Given the description of an element on the screen output the (x, y) to click on. 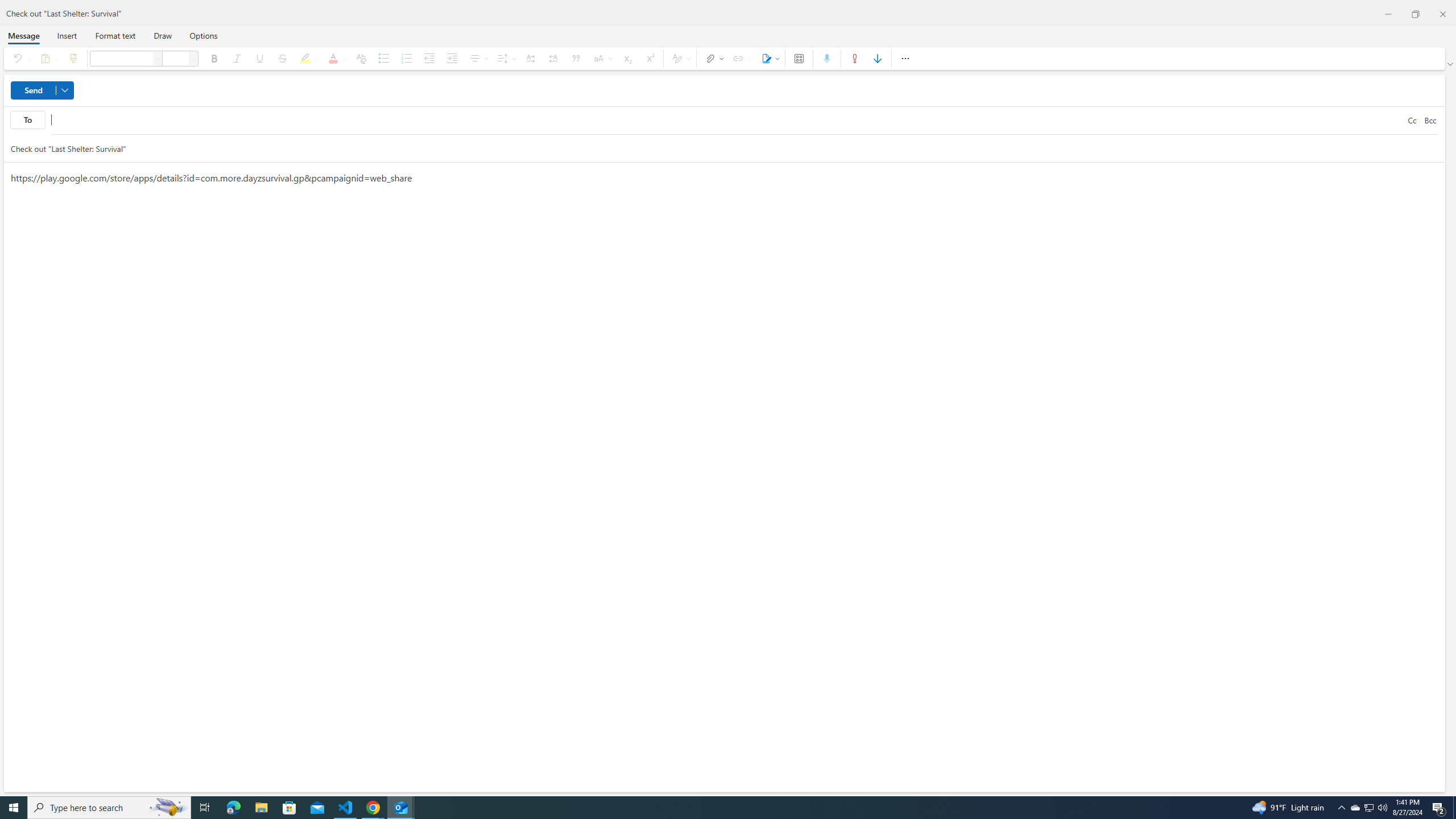
Undo (19, 58)
Link (740, 58)
Attach file (712, 58)
Font (157, 58)
Clear formatting (360, 58)
More send options (64, 90)
Font color (335, 58)
Right-to-left (552, 58)
Strikethrough (282, 58)
Send (42, 90)
Options (202, 35)
Styles (679, 58)
To (726, 120)
Change case (601, 58)
